Given the description of an element on the screen output the (x, y) to click on. 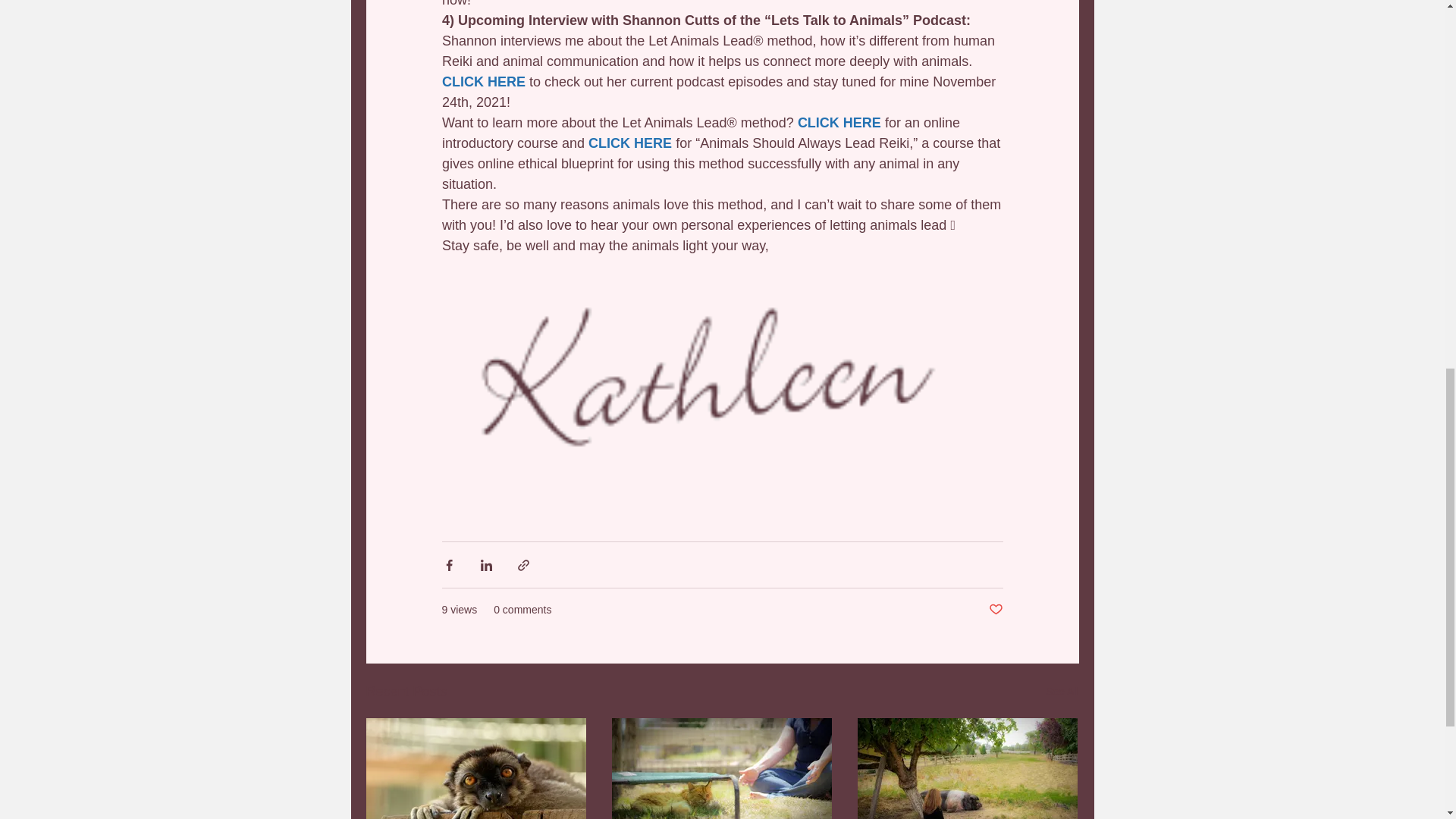
CLICK HERE (838, 122)
CLICK HERE (629, 142)
CLICK HERE (482, 81)
